Given the description of an element on the screen output the (x, y) to click on. 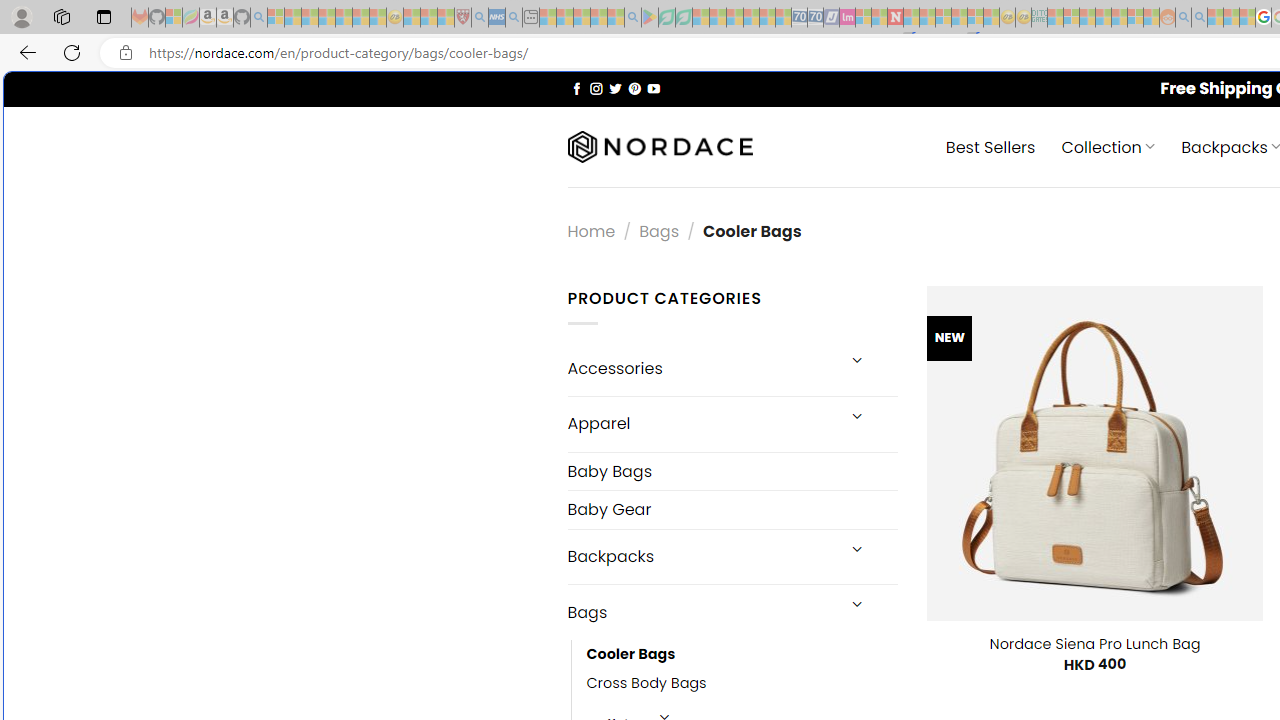
Bags (700, 613)
Nordace Siena Pro Lunch Bag (1094, 643)
  Best Sellers (989, 146)
Baby Gear (732, 509)
